Given the description of an element on the screen output the (x, y) to click on. 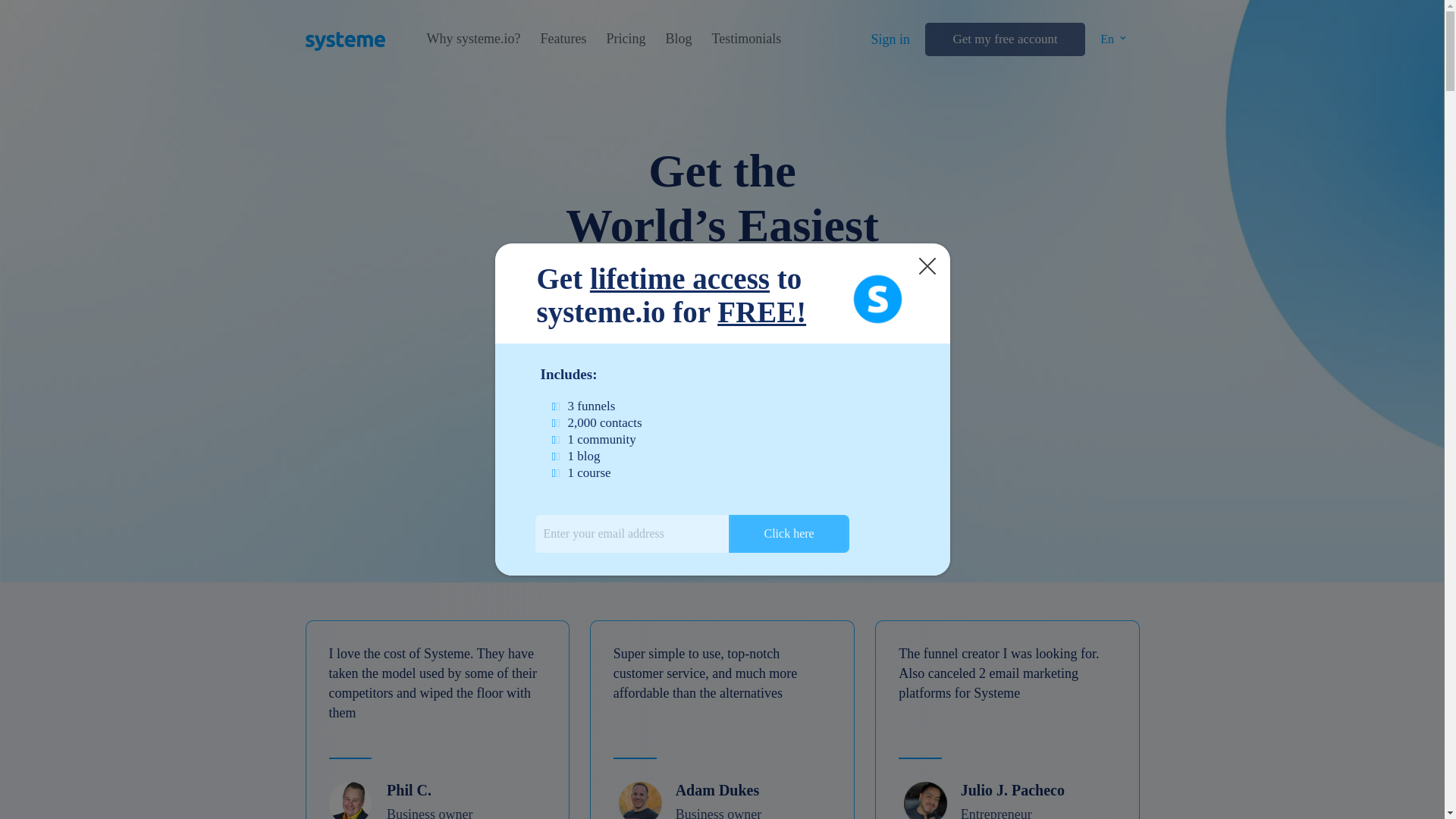
Pricing (625, 38)
Blog (678, 38)
Features (563, 38)
Get my free account (1004, 39)
Why systeme.io? (472, 38)
Testimonials (745, 38)
Sign in (890, 39)
